Given the description of an element on the screen output the (x, y) to click on. 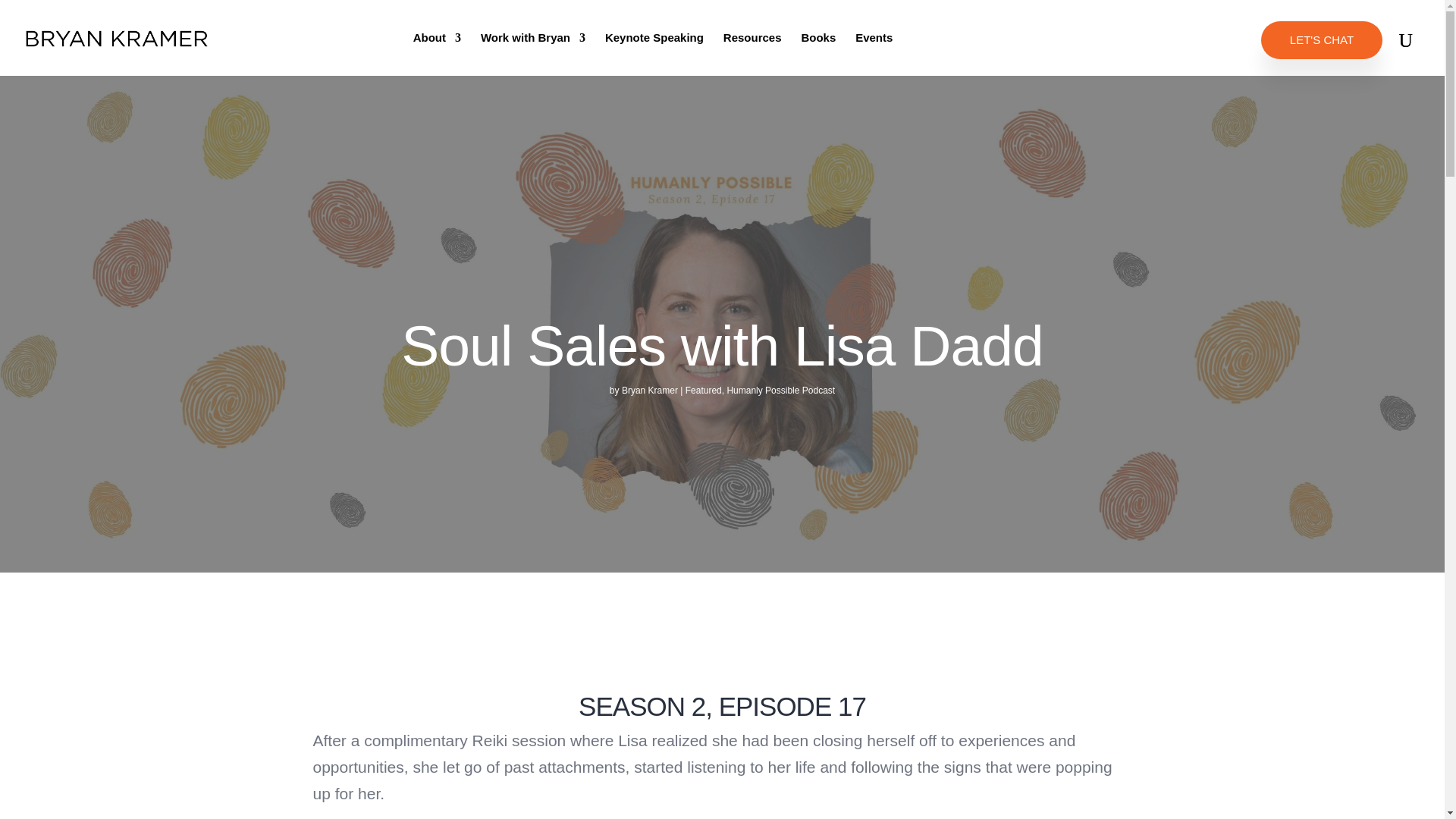
LET'S CHAT (1320, 39)
Work with Bryan (532, 49)
Books (817, 49)
Keynote Speaking (654, 49)
About (437, 49)
Events (874, 49)
Posts by Bryan Kramer (649, 389)
Humanly Possible Podcast (780, 389)
Featured (703, 389)
Resources (752, 49)
Bryan Kramer (649, 389)
